Given the description of an element on the screen output the (x, y) to click on. 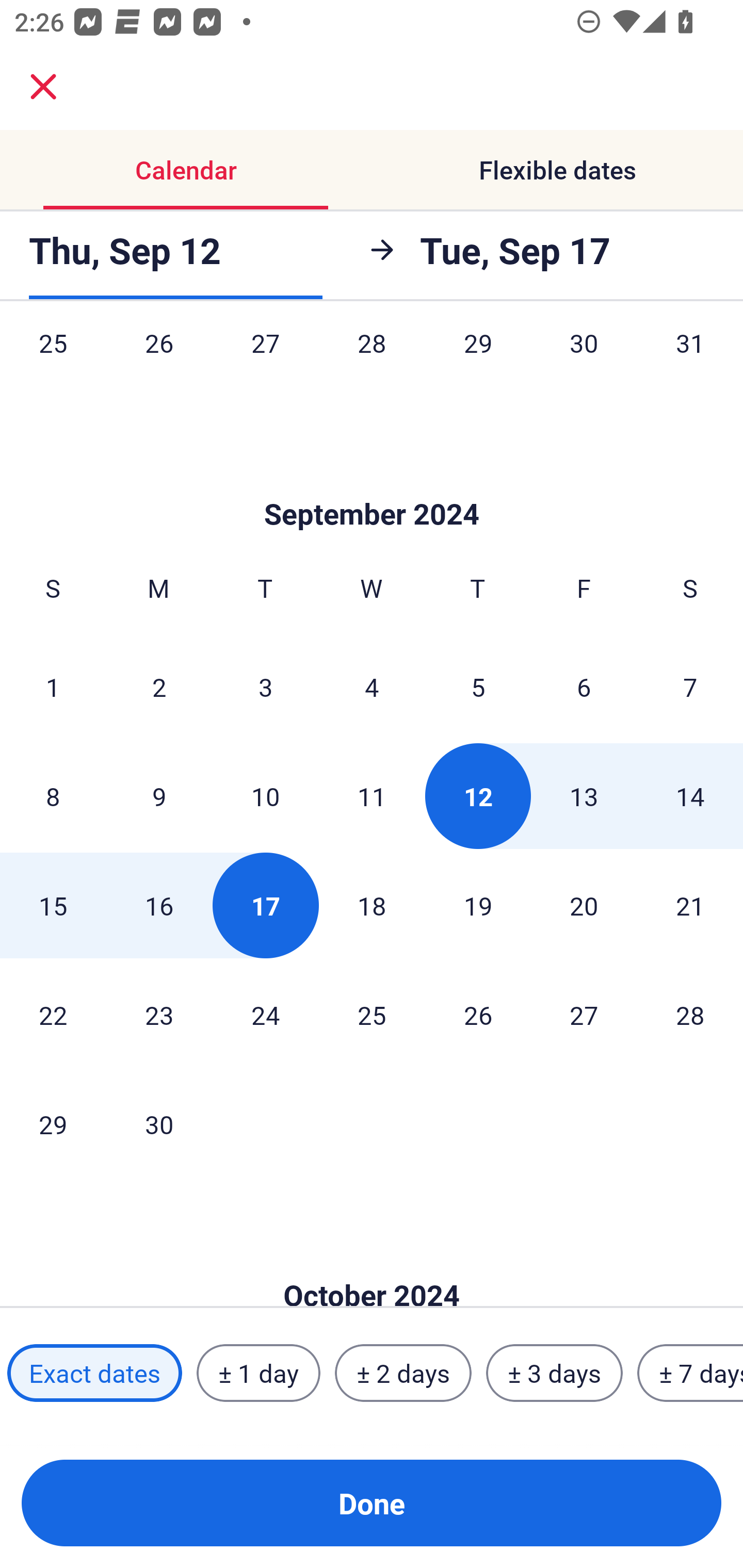
close. (43, 86)
Flexible dates (557, 170)
25 Sunday, August 25, 2024 (53, 362)
26 Monday, August 26, 2024 (159, 362)
27 Tuesday, August 27, 2024 (265, 362)
28 Wednesday, August 28, 2024 (371, 362)
29 Thursday, August 29, 2024 (477, 362)
30 Friday, August 30, 2024 (584, 362)
31 Saturday, August 31, 2024 (690, 362)
Skip to Done (371, 483)
1 Sunday, September 1, 2024 (53, 686)
2 Monday, September 2, 2024 (159, 686)
3 Tuesday, September 3, 2024 (265, 686)
4 Wednesday, September 4, 2024 (371, 686)
5 Thursday, September 5, 2024 (477, 686)
6 Friday, September 6, 2024 (584, 686)
7 Saturday, September 7, 2024 (690, 686)
8 Sunday, September 8, 2024 (53, 795)
9 Monday, September 9, 2024 (159, 795)
10 Tuesday, September 10, 2024 (265, 795)
11 Wednesday, September 11, 2024 (371, 795)
18 Wednesday, September 18, 2024 (371, 905)
19 Thursday, September 19, 2024 (477, 905)
20 Friday, September 20, 2024 (584, 905)
21 Saturday, September 21, 2024 (690, 905)
22 Sunday, September 22, 2024 (53, 1014)
23 Monday, September 23, 2024 (159, 1014)
24 Tuesday, September 24, 2024 (265, 1014)
25 Wednesday, September 25, 2024 (371, 1014)
26 Thursday, September 26, 2024 (477, 1014)
27 Friday, September 27, 2024 (584, 1014)
28 Saturday, September 28, 2024 (690, 1014)
29 Sunday, September 29, 2024 (53, 1123)
30 Monday, September 30, 2024 (159, 1123)
Skip to Done (371, 1263)
Exact dates (94, 1372)
± 1 day (258, 1372)
± 2 days (403, 1372)
± 3 days (553, 1372)
± 7 days (690, 1372)
Done (371, 1502)
